Given the description of an element on the screen output the (x, y) to click on. 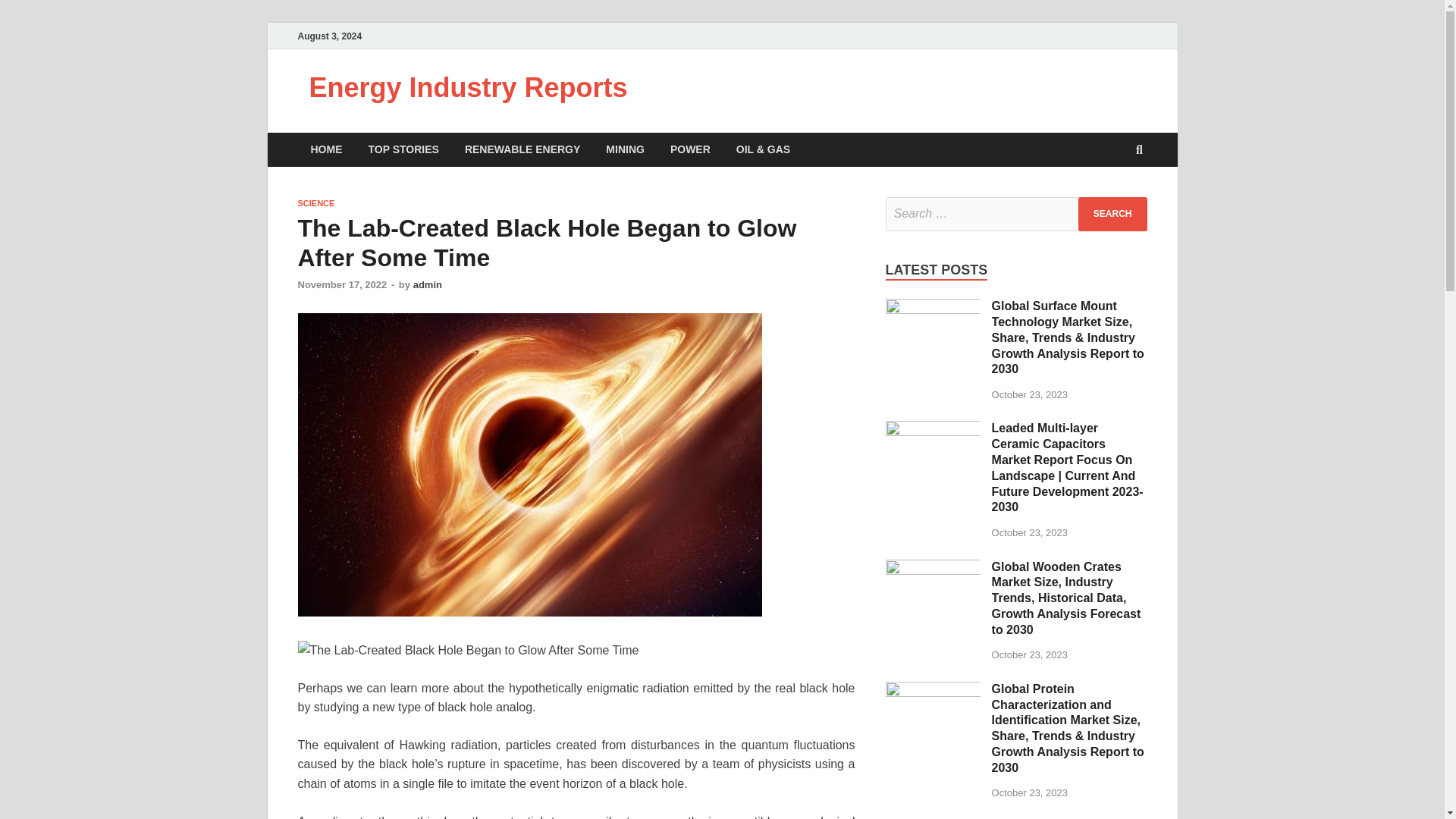
November 17, 2022 (342, 284)
Search (1112, 213)
Search (1112, 213)
MINING (625, 149)
RENEWABLE ENERGY (521, 149)
admin (427, 284)
HOME (326, 149)
SCIENCE (315, 203)
Energy Industry Reports (467, 87)
TOP STORIES (403, 149)
The Lab-Created Black Hole Began to Glow After Some Time (468, 650)
POWER (690, 149)
Search (1112, 213)
